Given the description of an element on the screen output the (x, y) to click on. 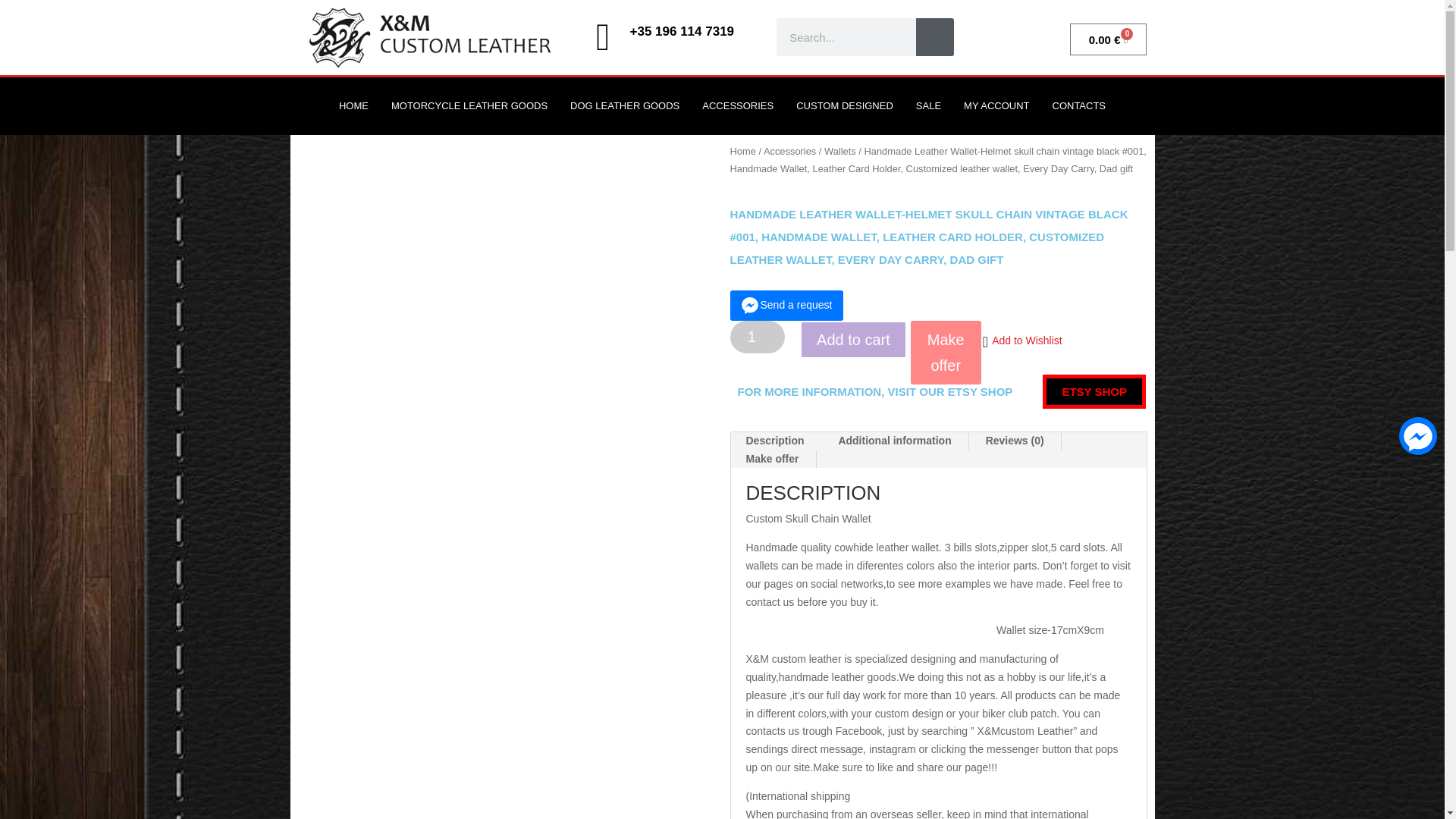
DOG LEATHER GOODS (624, 106)
CUSTOM DESIGNED (844, 106)
ACCESSORIES (737, 106)
MOTORCYCLE LEATHER GOODS (469, 106)
SALE (928, 106)
1 (756, 336)
HOME (353, 106)
MY ACCOUNT (996, 106)
CONTACTS (1078, 106)
